Given the description of an element on the screen output the (x, y) to click on. 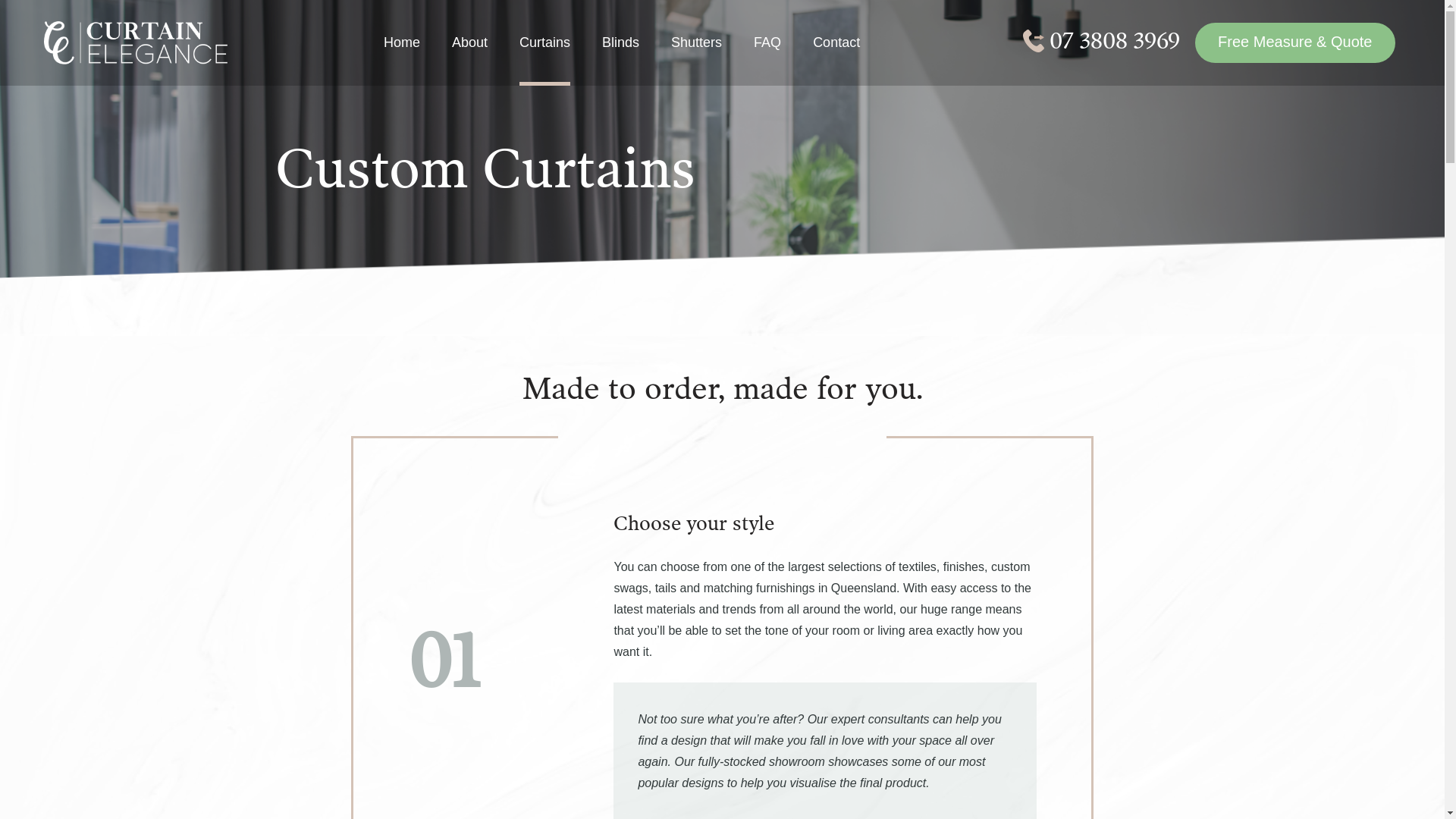
07 3808 3969 Element type: text (1100, 40)
Home Element type: text (401, 58)
Curtains Element type: text (544, 58)
About Element type: text (469, 58)
FAQ Element type: text (767, 58)
Free Measure & Quote Element type: text (1294, 42)
Blinds Element type: text (620, 58)
Shutters Element type: text (696, 58)
Contact Element type: text (835, 58)
